Given the description of an element on the screen output the (x, y) to click on. 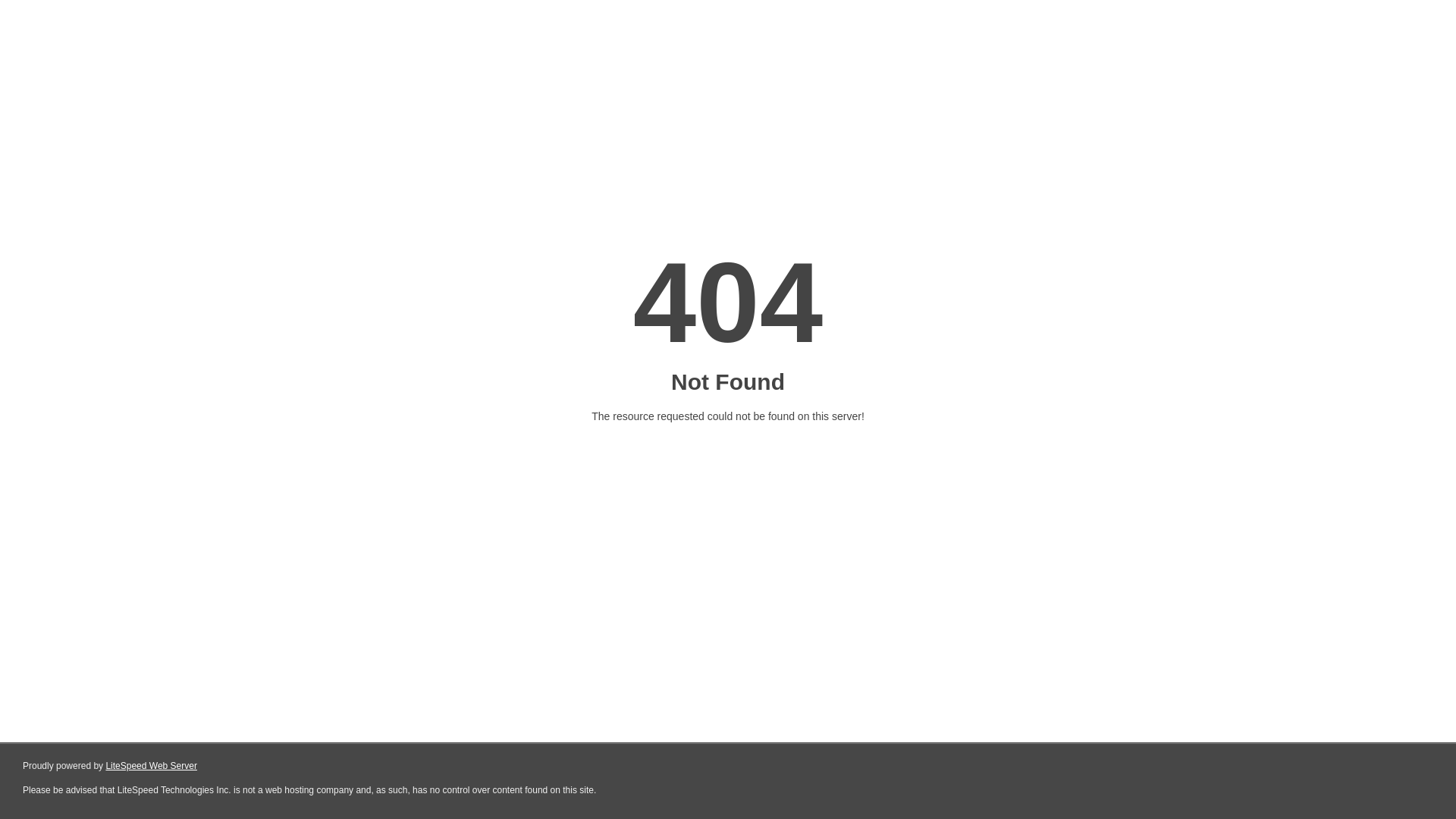
LiteSpeed Web Server Element type: text (151, 765)
